Given the description of an element on the screen output the (x, y) to click on. 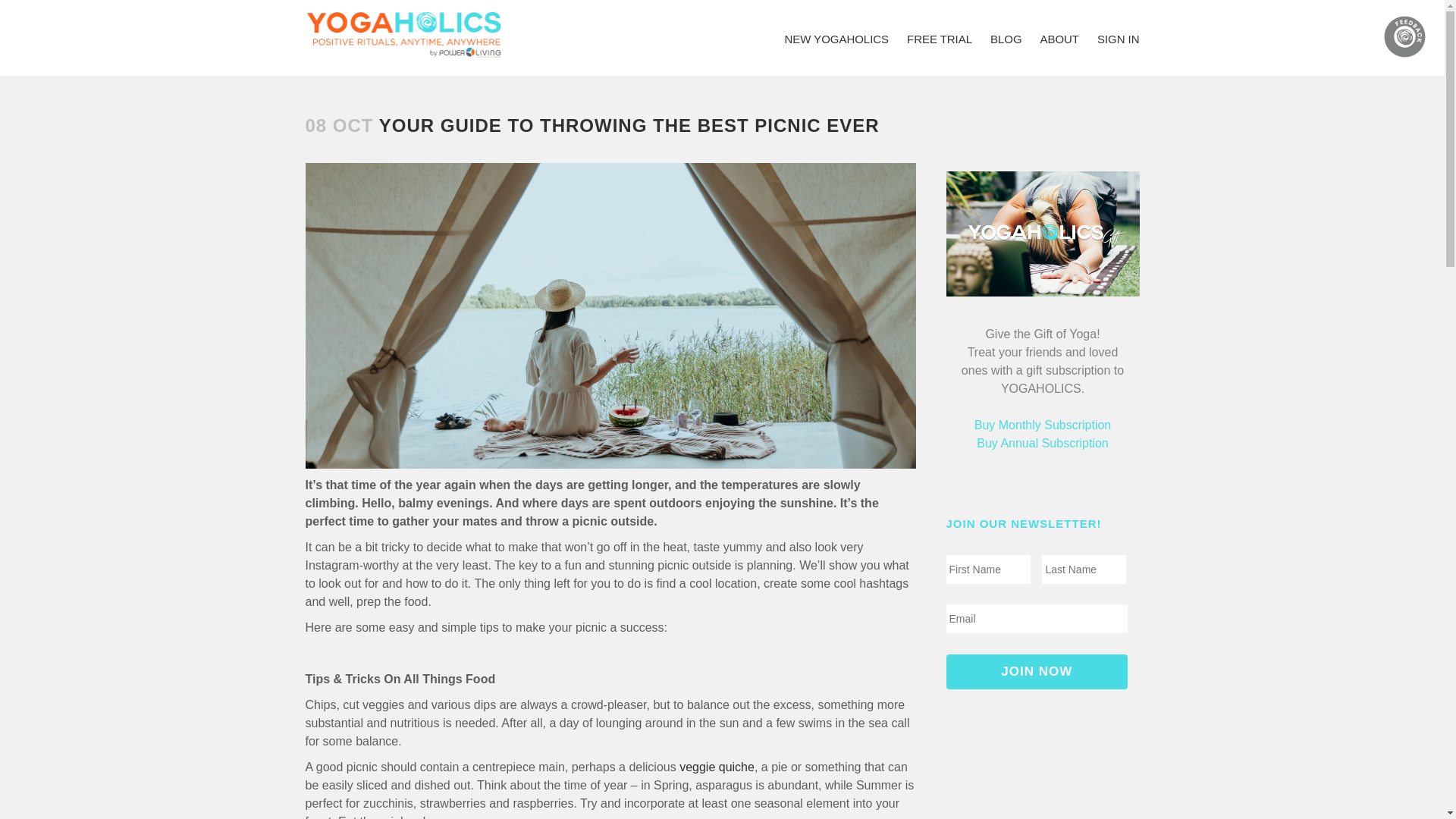
Buy Monthly Subscription (1043, 424)
Join Now (1037, 671)
BLOG (1006, 36)
FREE TRIAL (939, 36)
Join Now (1037, 671)
Buy Annual Subscription (1042, 442)
NEW YOGAHOLICS (836, 36)
Reach Out (1404, 36)
SIGN IN (1118, 36)
ABOUT (1059, 36)
veggie quiche (716, 766)
